Given the description of an element on the screen output the (x, y) to click on. 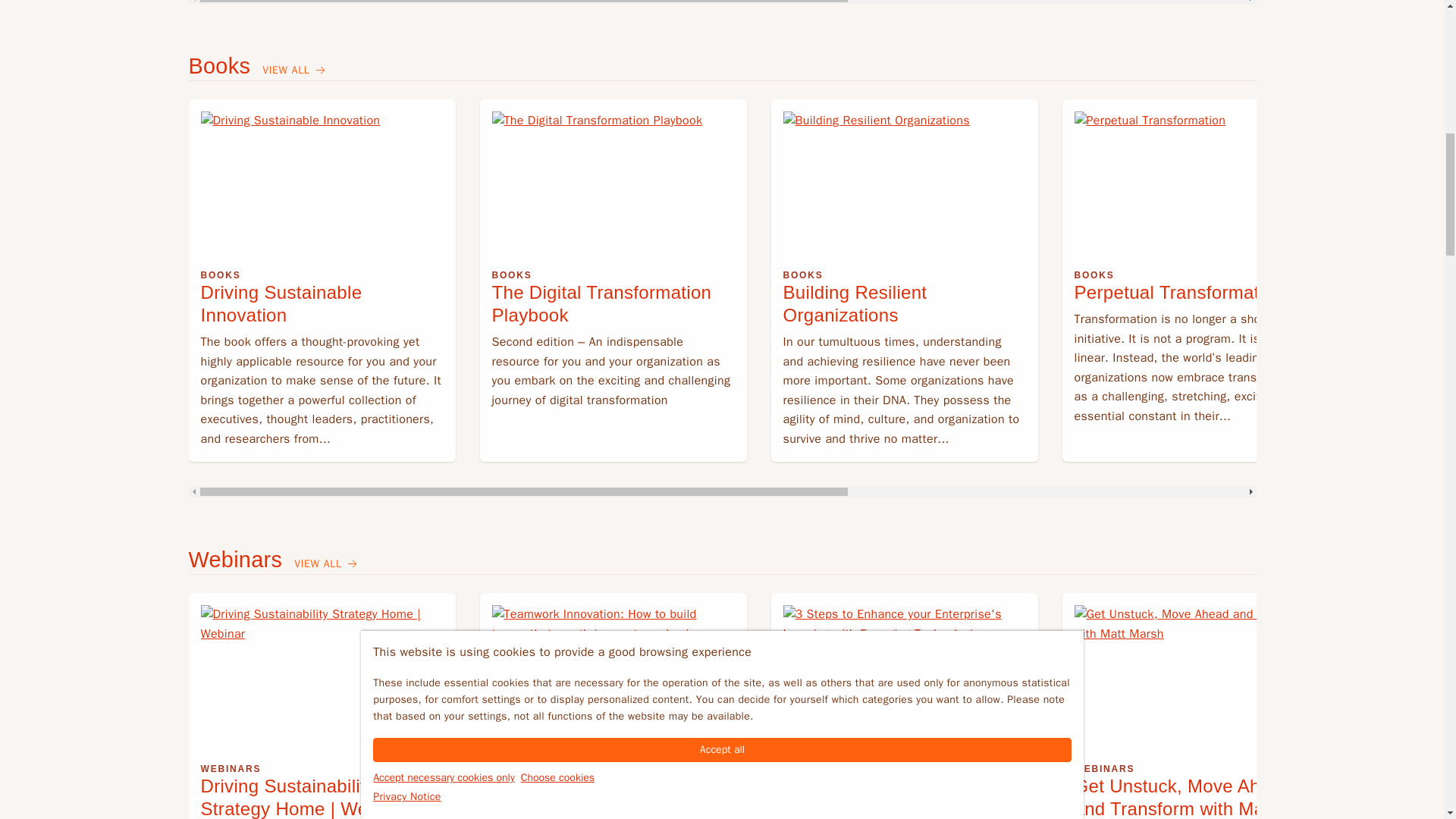
View all Books (295, 70)
View all Webinars (326, 564)
